Given the description of an element on the screen output the (x, y) to click on. 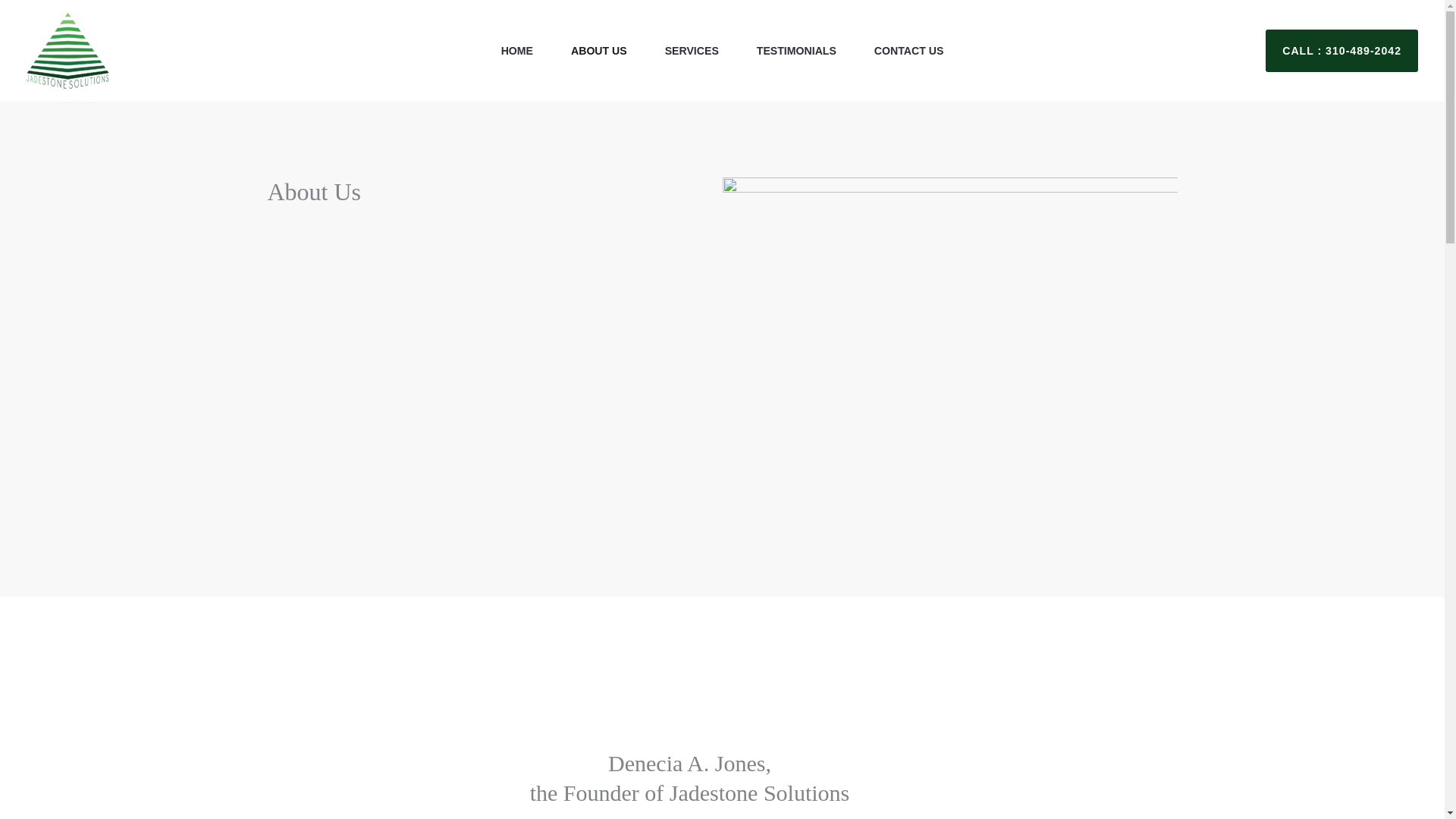
CONTACT US (909, 50)
ABOUT US (598, 50)
SERVICES (692, 50)
TESTIMONIALS (797, 50)
CALL : 310-489-2042 (1341, 50)
